Given the description of an element on the screen output the (x, y) to click on. 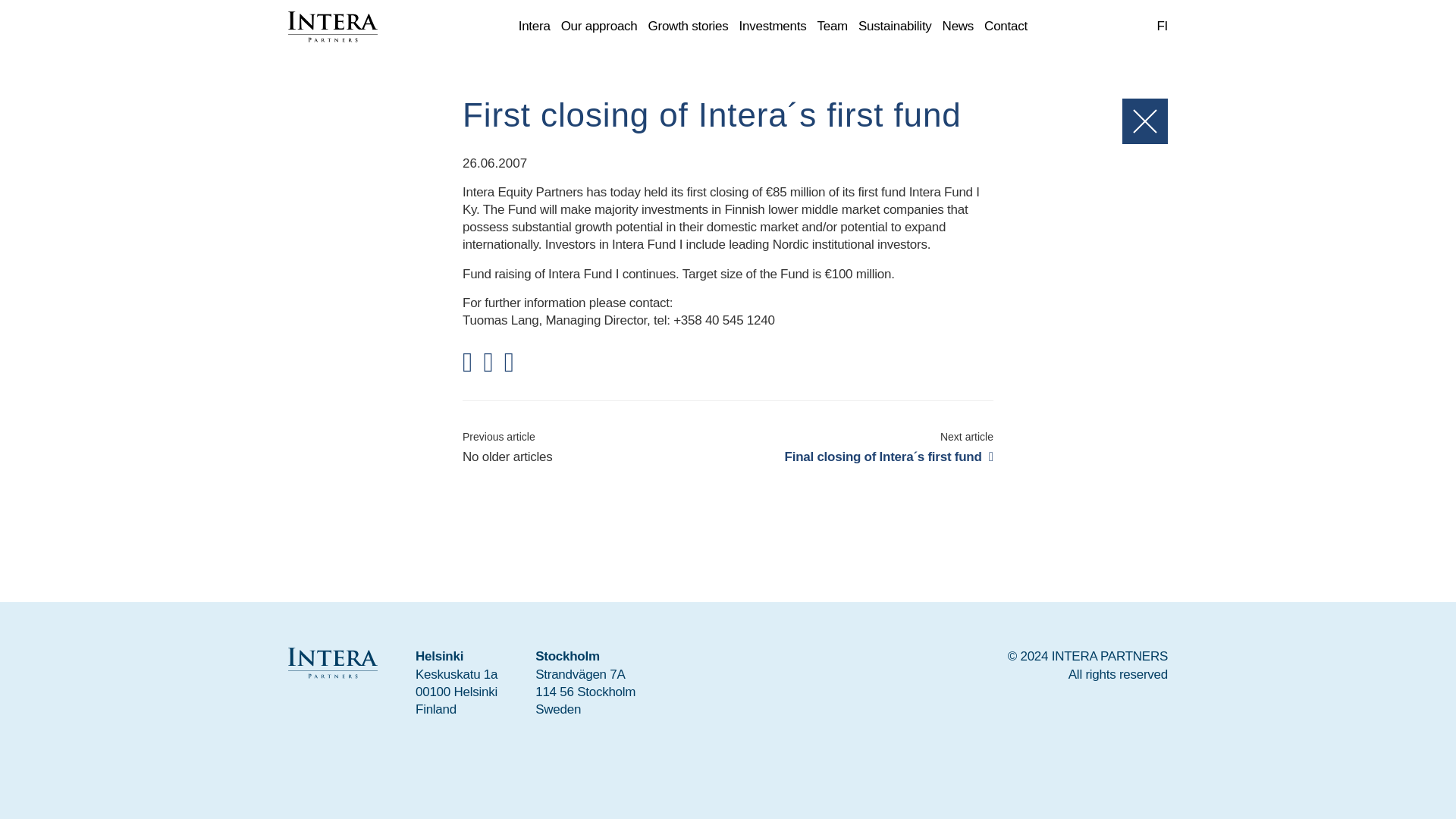
Investments (772, 26)
Our approach (598, 26)
Growth stories (688, 26)
Sustainability (895, 26)
